Given the description of an element on the screen output the (x, y) to click on. 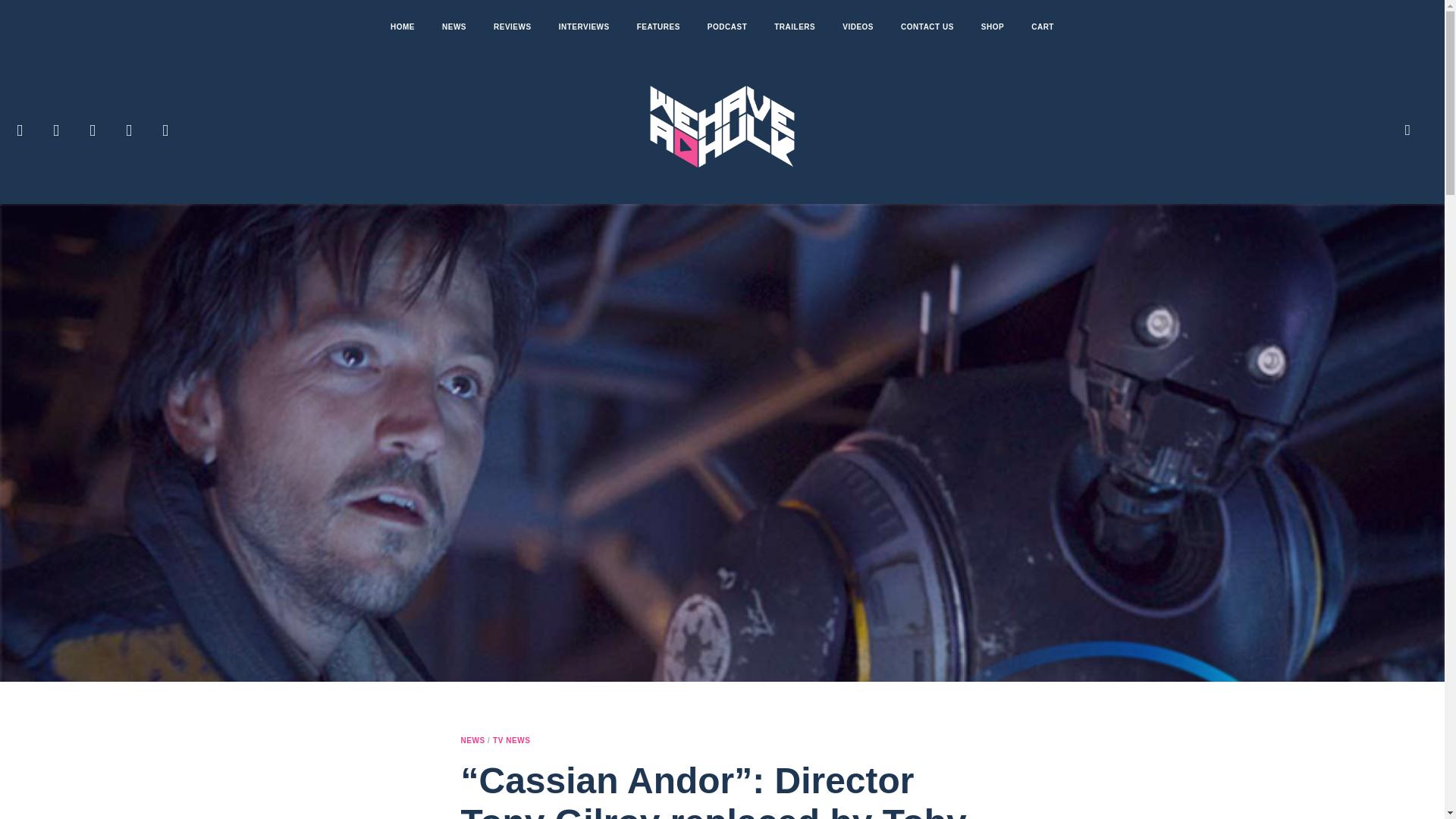
NEWS (454, 27)
PODCAST (727, 27)
INTERVIEWS (583, 27)
TRAILERS (794, 27)
SHOP (992, 27)
CART (1042, 27)
VIDEOS (857, 27)
FEATURES (658, 27)
REVIEWS (512, 27)
HOME (402, 27)
